Given the description of an element on the screen output the (x, y) to click on. 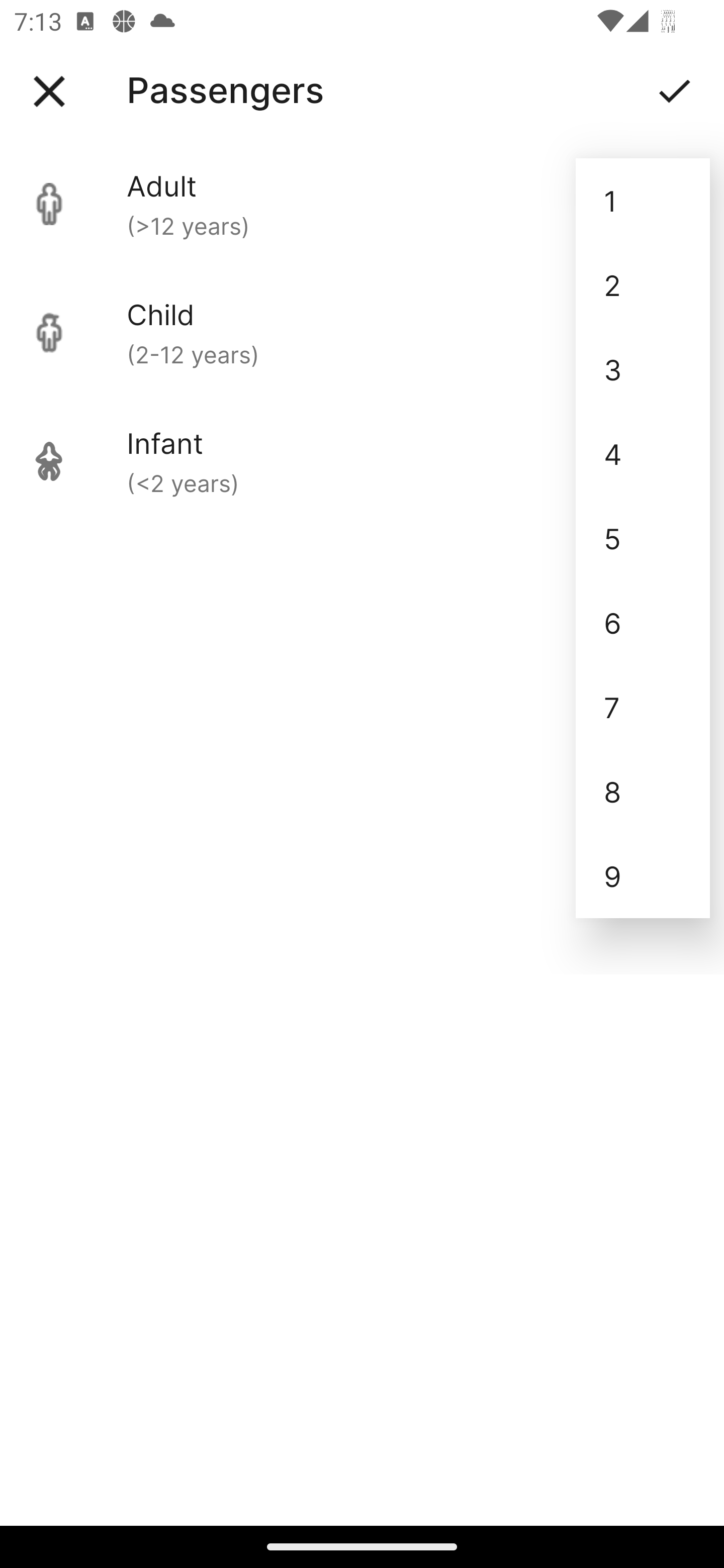
1 (642, 200)
2 (642, 285)
3 (642, 368)
4 (642, 452)
5 (642, 537)
6 (642, 622)
7 (642, 706)
8 (642, 791)
9 (642, 876)
